Given the description of an element on the screen output the (x, y) to click on. 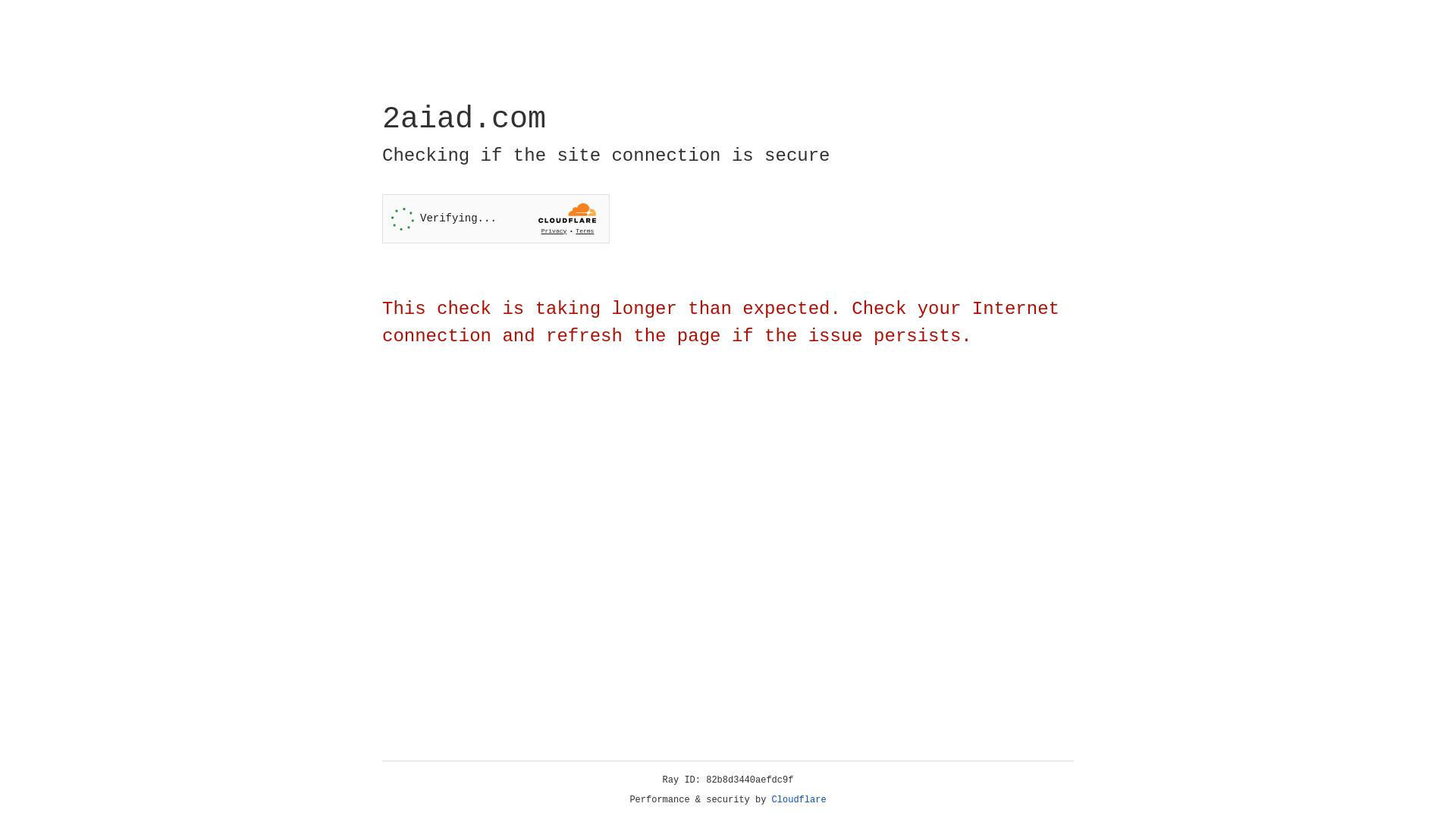
Cloudflare Element type: text (798, 799)
Widget containing a Cloudflare security challenge Element type: hover (495, 218)
